Given the description of an element on the screen output the (x, y) to click on. 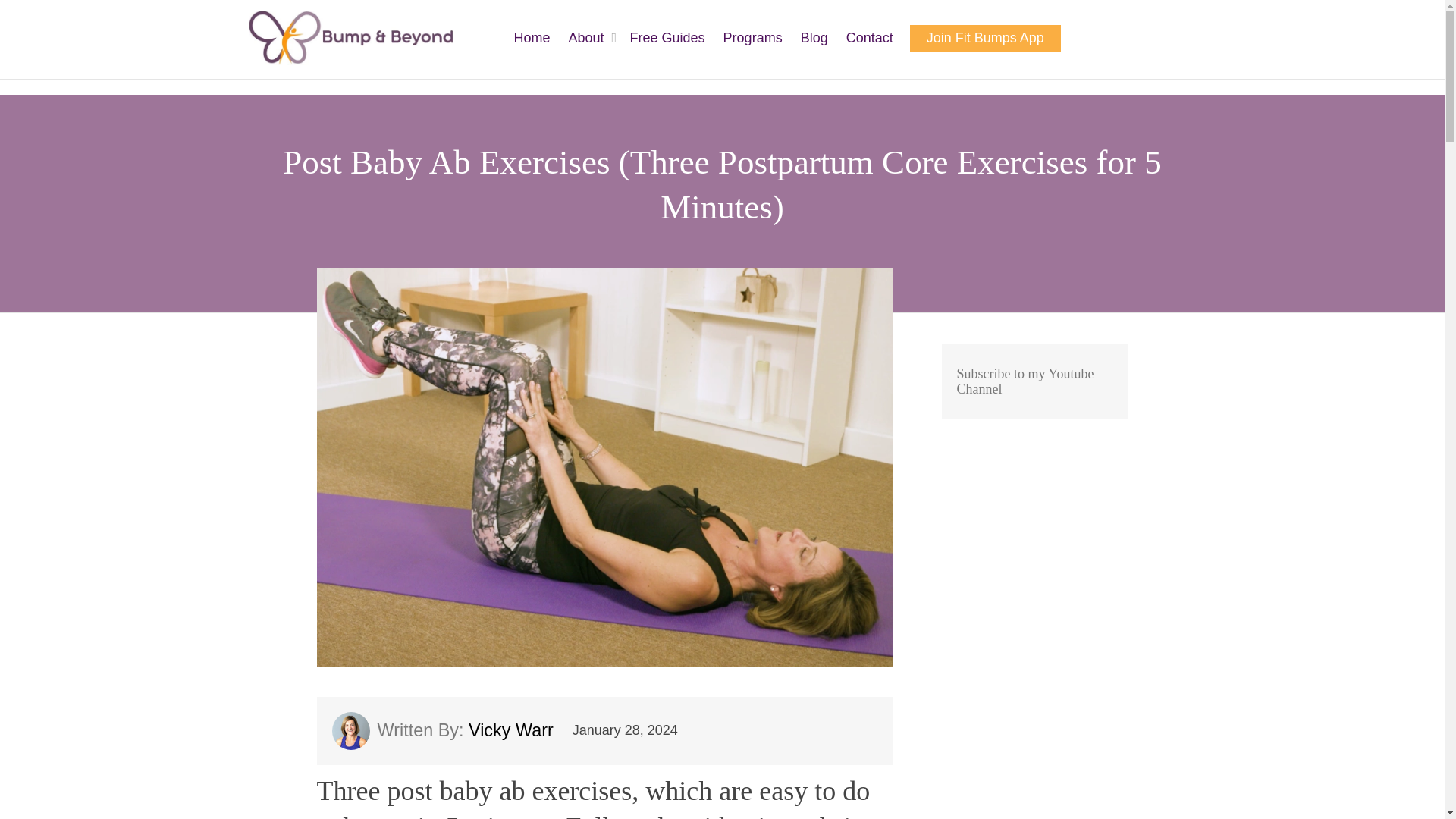
Bump and Beyond (350, 37)
January 28, 2024 (625, 729)
View all POSTS by Vicky Warr (450, 729)
Join Fit Bumps App (984, 37)
Vicky Warr (450, 729)
Join Fit Bumps App (984, 37)
Free Guides (667, 37)
Free Guides (667, 37)
